Given the description of an element on the screen output the (x, y) to click on. 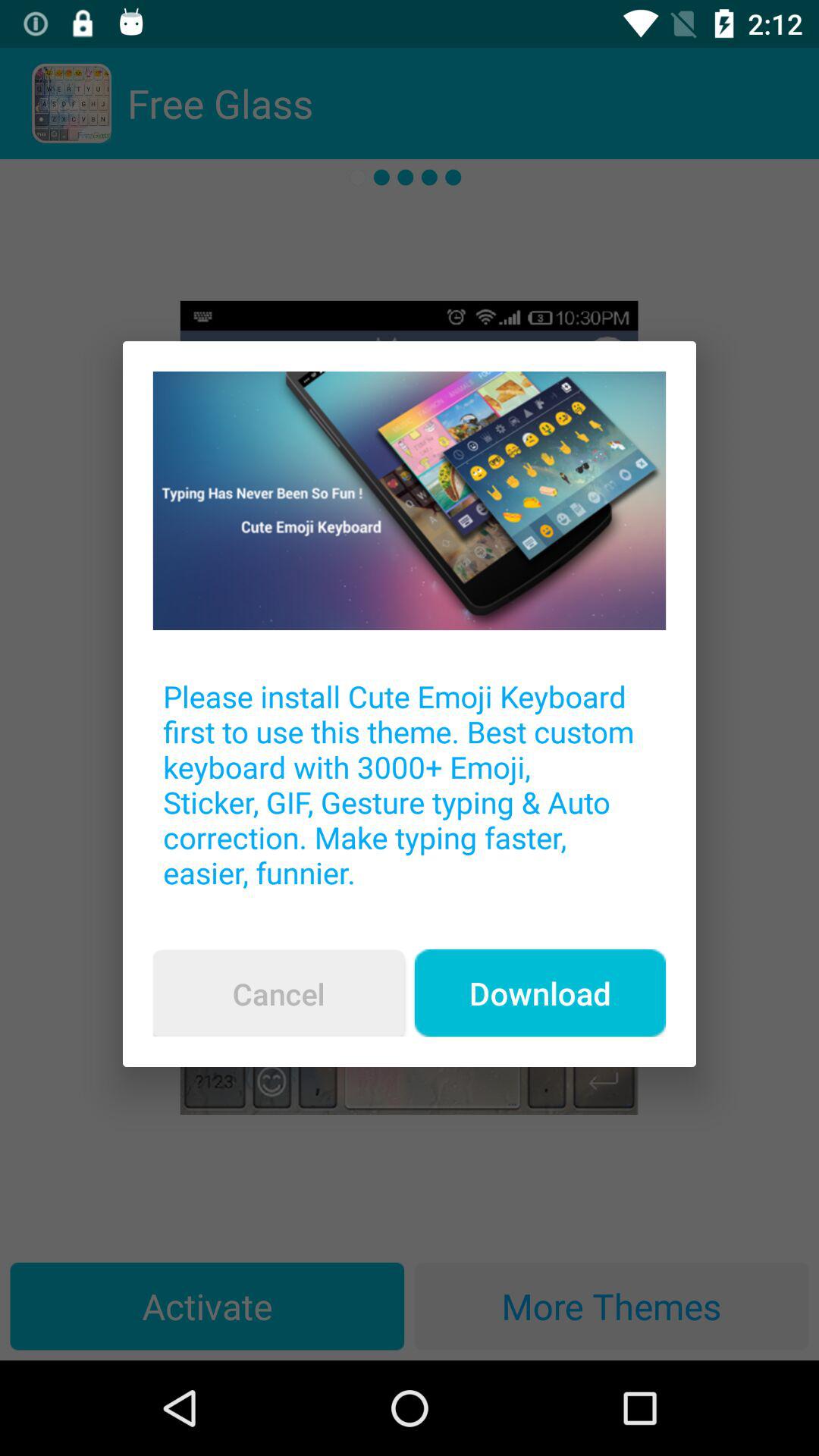
choose the cancel item (278, 993)
